Given the description of an element on the screen output the (x, y) to click on. 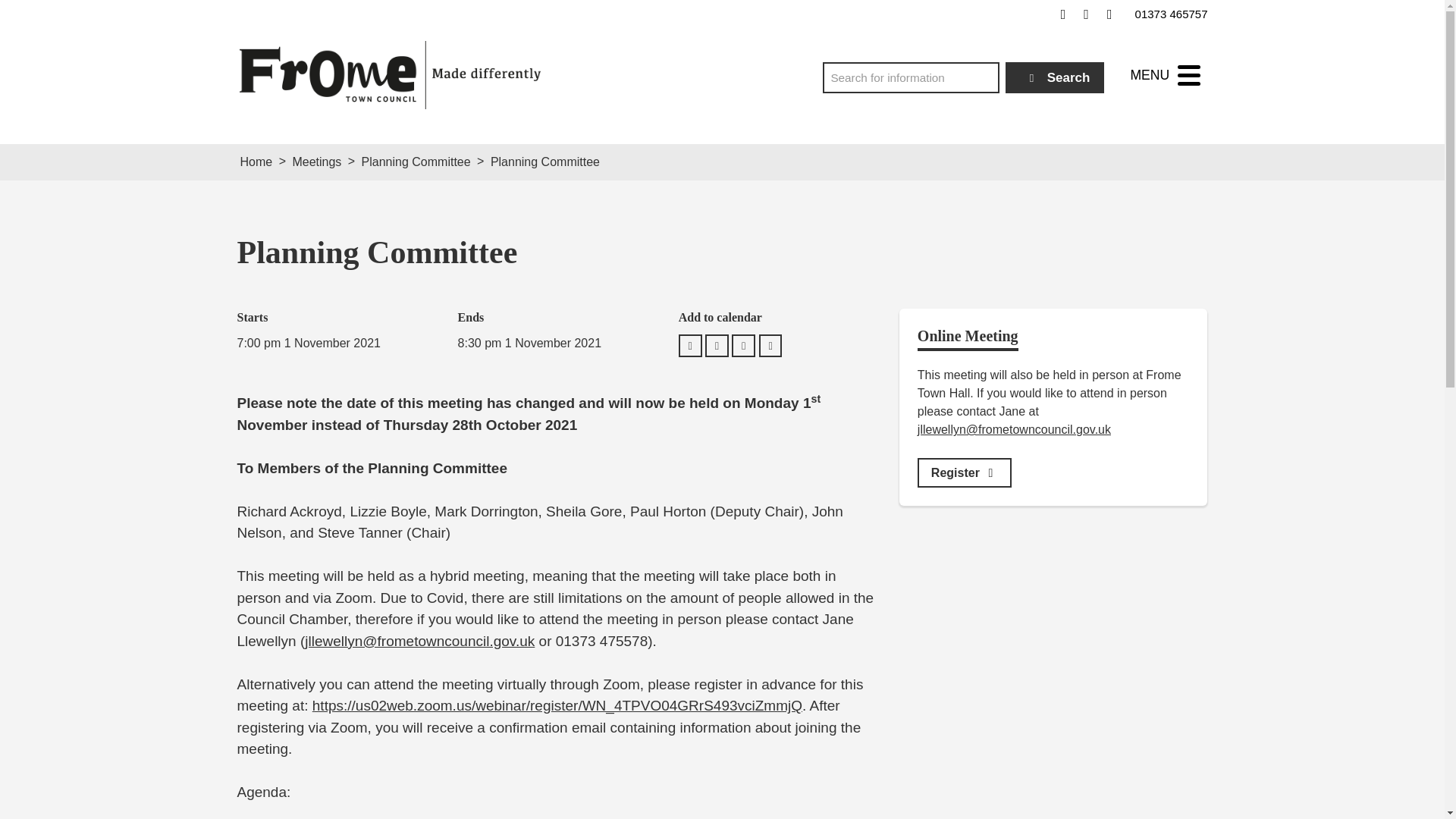
Go to Home. (256, 161)
Search (1055, 77)
MENU (1164, 75)
Go to the Planning Committee Event Category archives. (415, 161)
Frome Town Council's Twitter (1085, 13)
Go to the Meetings Event Category archives. (316, 161)
Frome Town Council's Instagram (1109, 13)
Frome Town Council's Facebook (1063, 13)
